Given the description of an element on the screen output the (x, y) to click on. 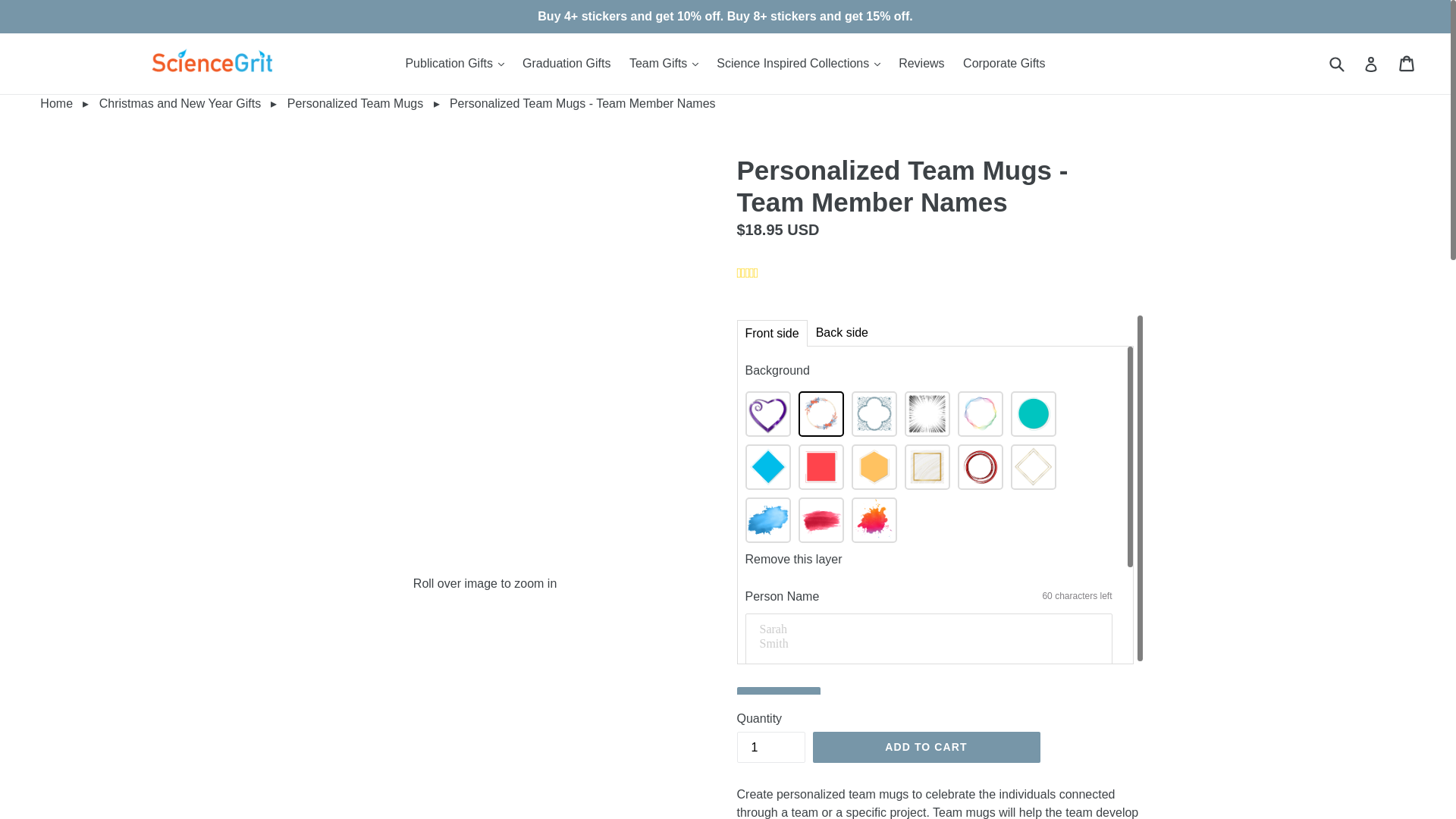
Smaller Font (758, 700)
Bigger Font (801, 700)
Home (36, 103)
Normal Font (779, 701)
1 (770, 747)
